Given the description of an element on the screen output the (x, y) to click on. 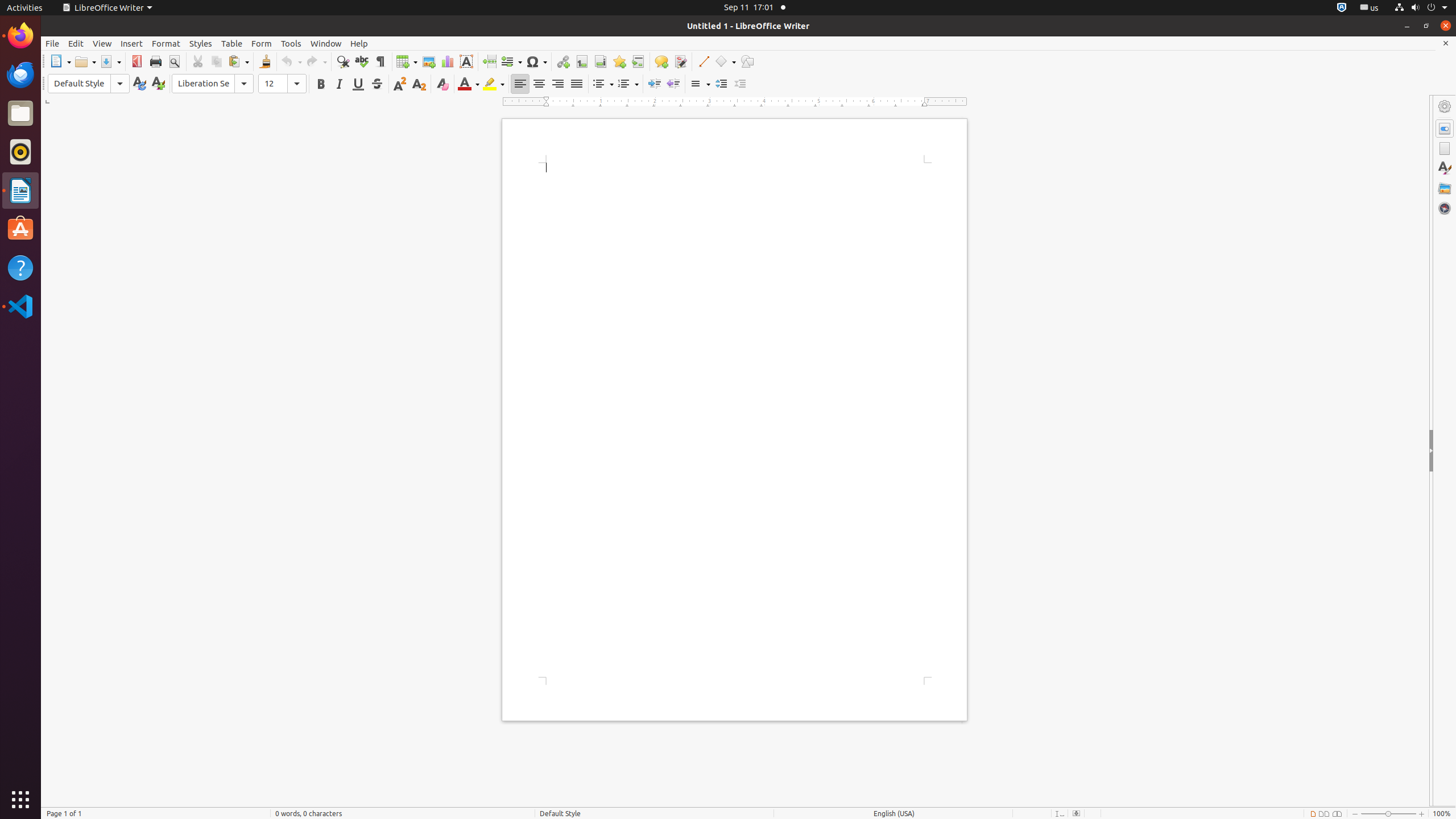
Window Element type: menu (325, 43)
Undo Element type: push-button (290, 61)
Spelling Element type: push-button (361, 61)
Paste Element type: push-button (237, 61)
Format Element type: menu (165, 43)
